Given the description of an element on the screen output the (x, y) to click on. 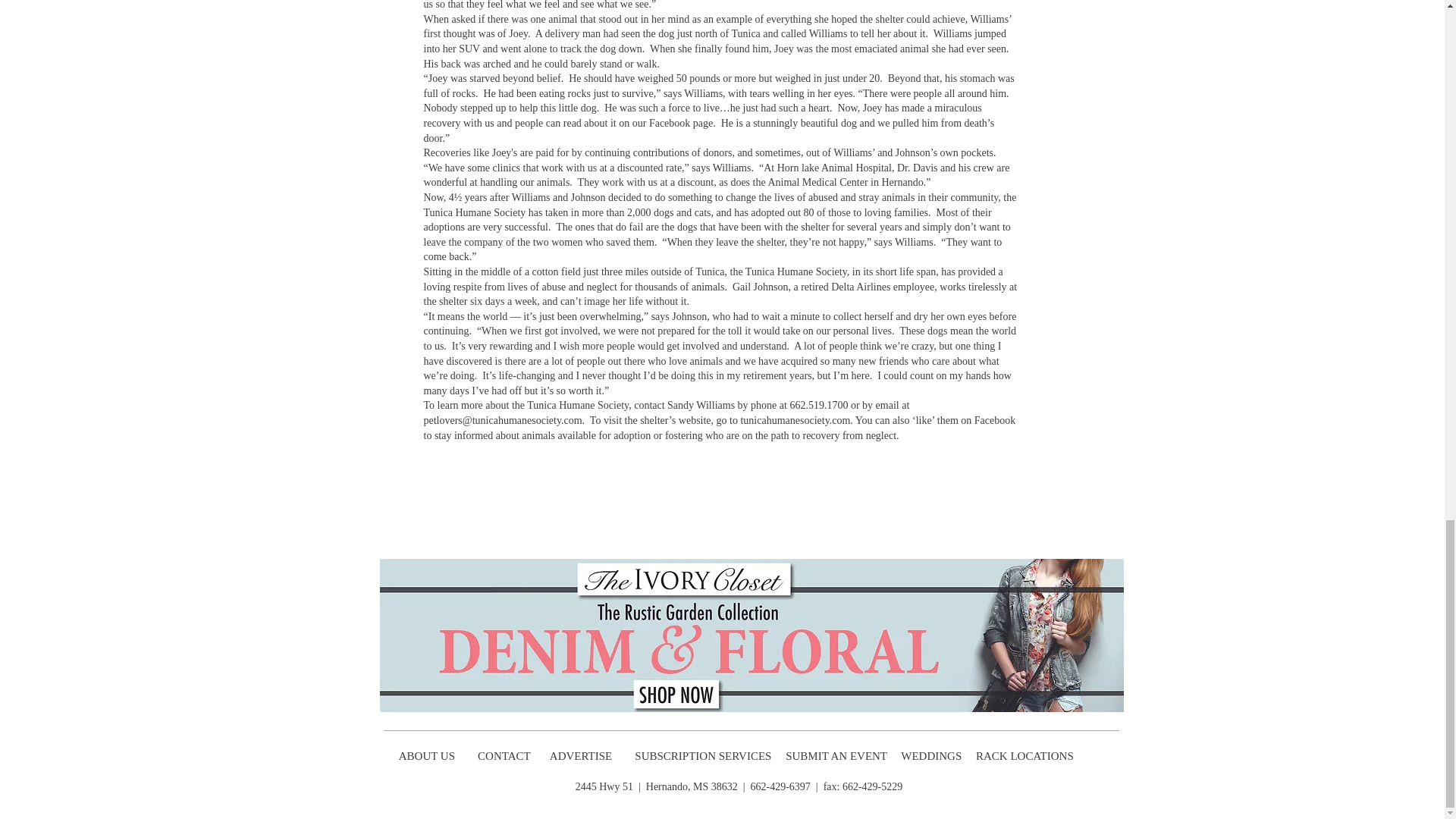
ABOUT US (426, 756)
WEDDINGS   (935, 756)
SUBMIT AN EVENT (837, 756)
CONTACT (504, 756)
ADVERTISE (582, 756)
 SUBSCRIPTION SERVICES (702, 756)
RACK LOCATIONS   (1026, 756)
